Given the description of an element on the screen output the (x, y) to click on. 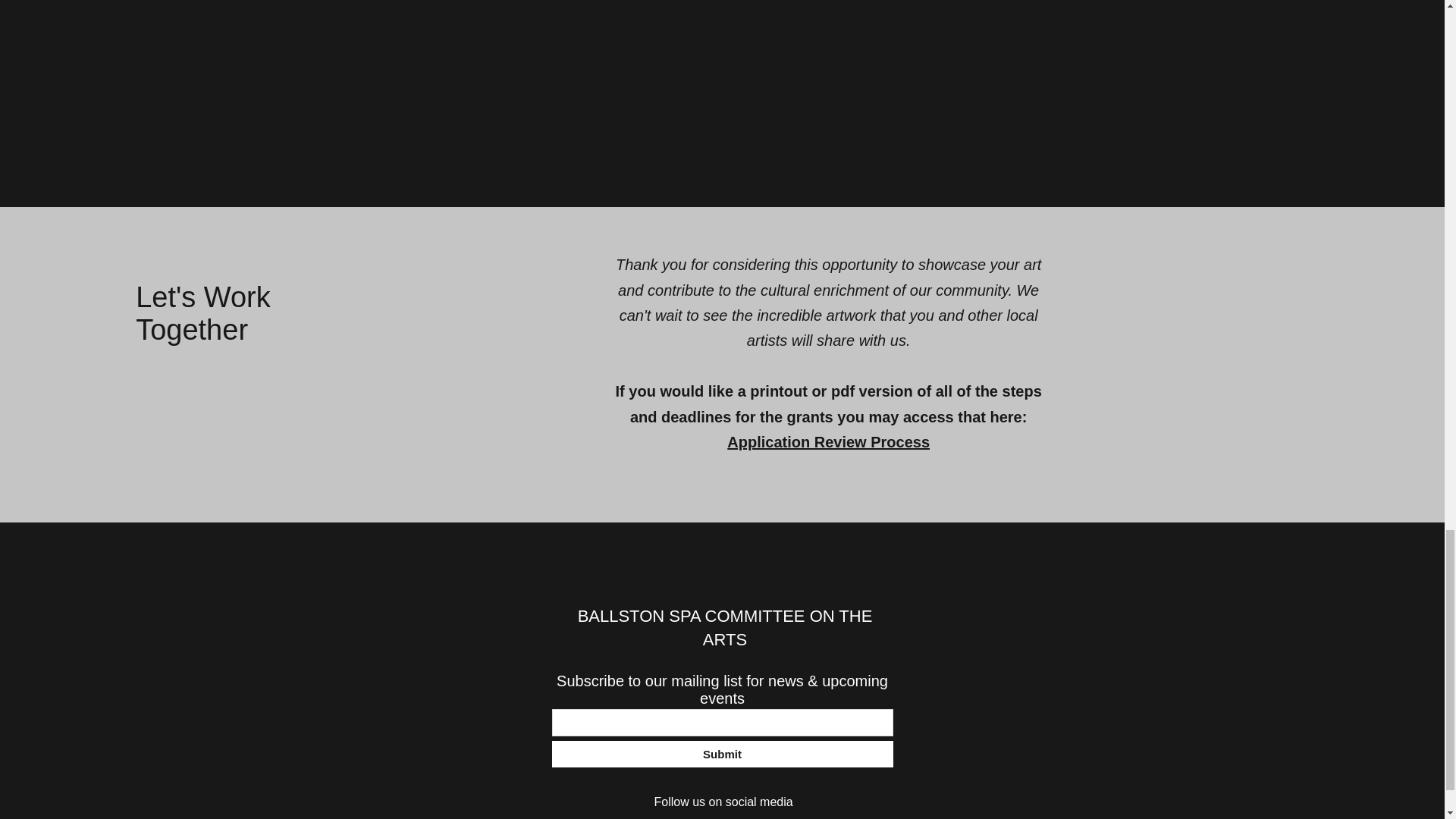
BALLSTON SPA COMMITTEE ON THE ARTS (725, 627)
Submit (722, 754)
Application Review Process (828, 442)
